Given the description of an element on the screen output the (x, y) to click on. 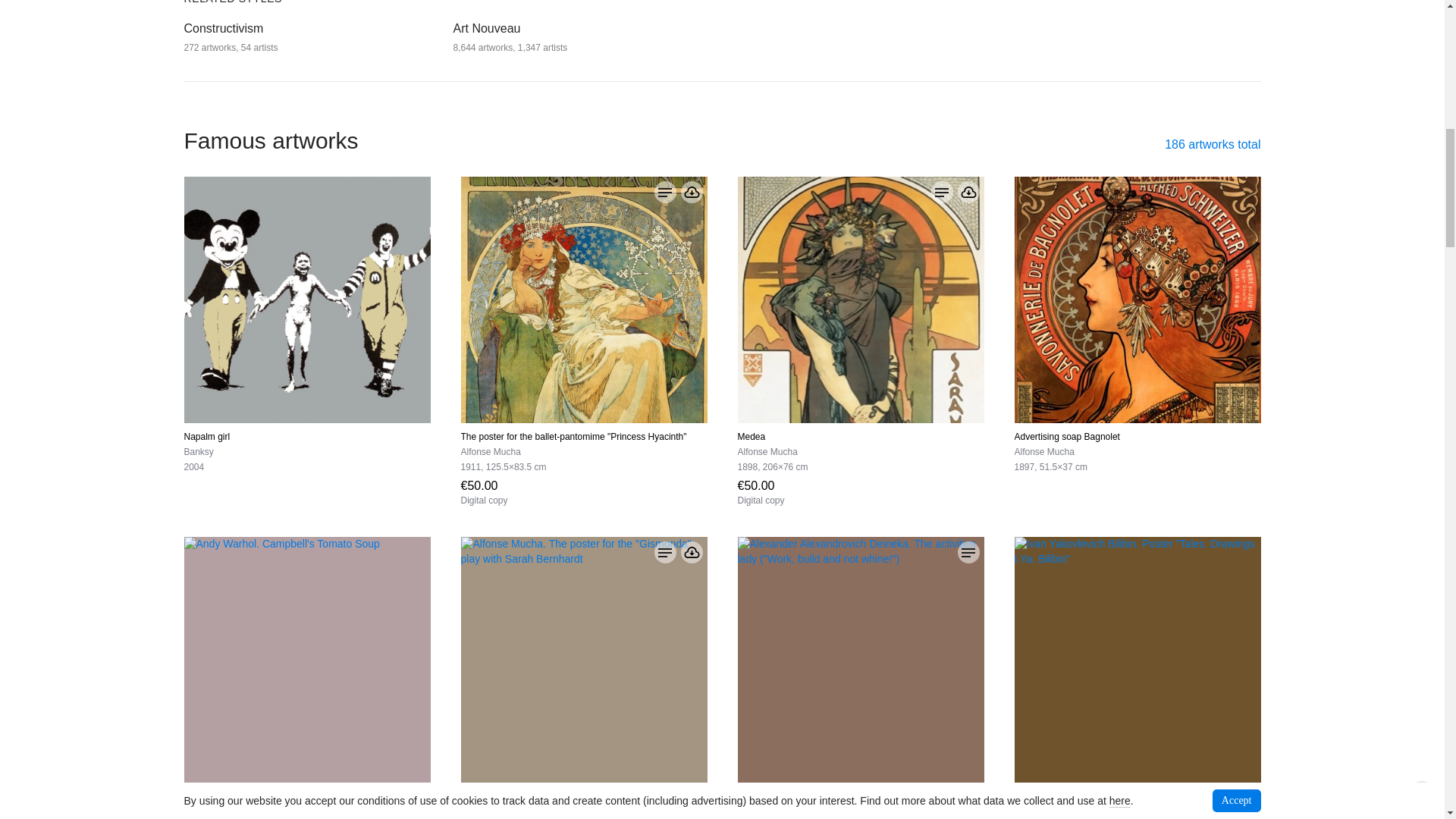
With description (664, 191)
Alfonse Mucha. Advertising soap Bagnolet (1137, 299)
Buy digital copy (484, 491)
Buy digital copy (760, 491)
Alfonse Mucha. Medea (860, 299)
Banksy. Napalm girl (306, 299)
With description (942, 191)
